Given the description of an element on the screen output the (x, y) to click on. 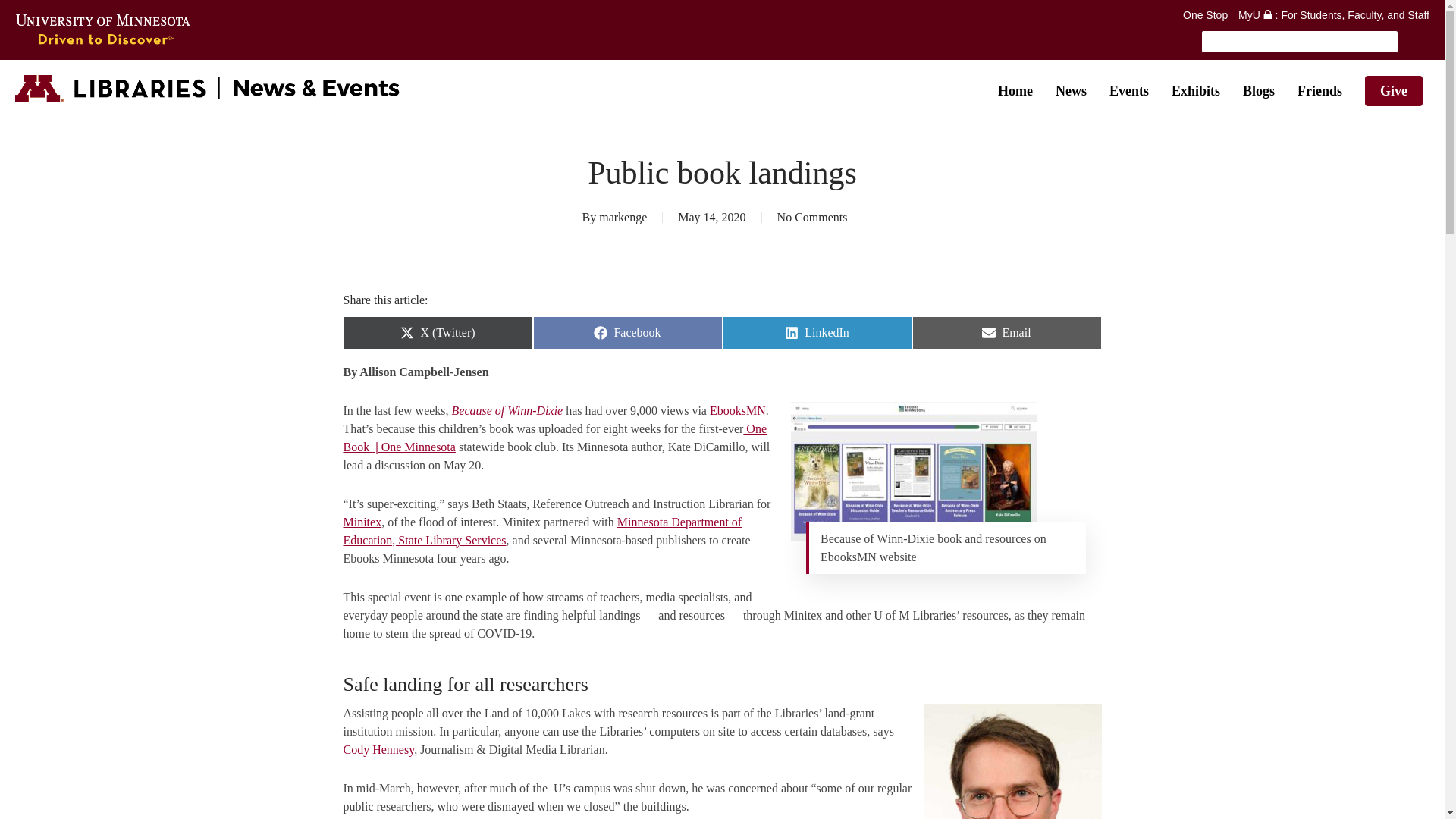
Search (1313, 41)
MyU : For Students, Faculty, and Staff (1334, 15)
Home (1014, 90)
Events (1128, 90)
Posts by markenge (622, 216)
Exhibits (1196, 90)
News (1070, 90)
Give (1393, 90)
One Stop (1204, 15)
Blogs (1259, 90)
